Given the description of an element on the screen output the (x, y) to click on. 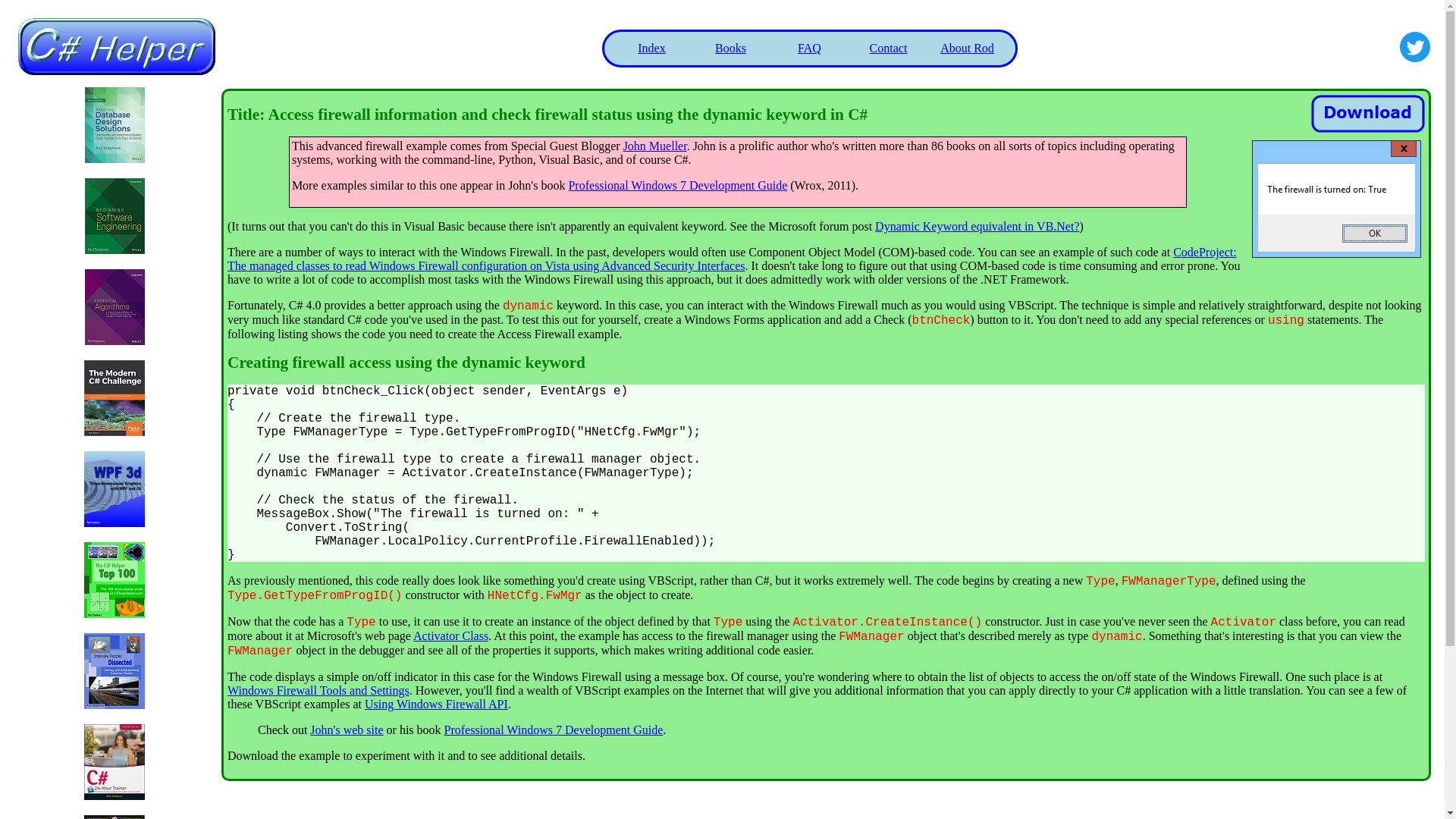
Download example (1368, 113)
Activator Class (450, 635)
Interview Puzzles Dissected (114, 704)
Essential Algorithms (114, 340)
Books (729, 47)
Twitter (1414, 46)
John's web site (346, 729)
Contact (888, 47)
Professional Windows 7 Development Guide (553, 729)
Dynamic Keyword equivalent in VB.Net? (976, 226)
Windows Firewall Tools and Settings (318, 689)
About Rod (967, 47)
Professional Windows 7 Development Guide (677, 185)
Using Windows Firewall API (436, 703)
